Given the description of an element on the screen output the (x, y) to click on. 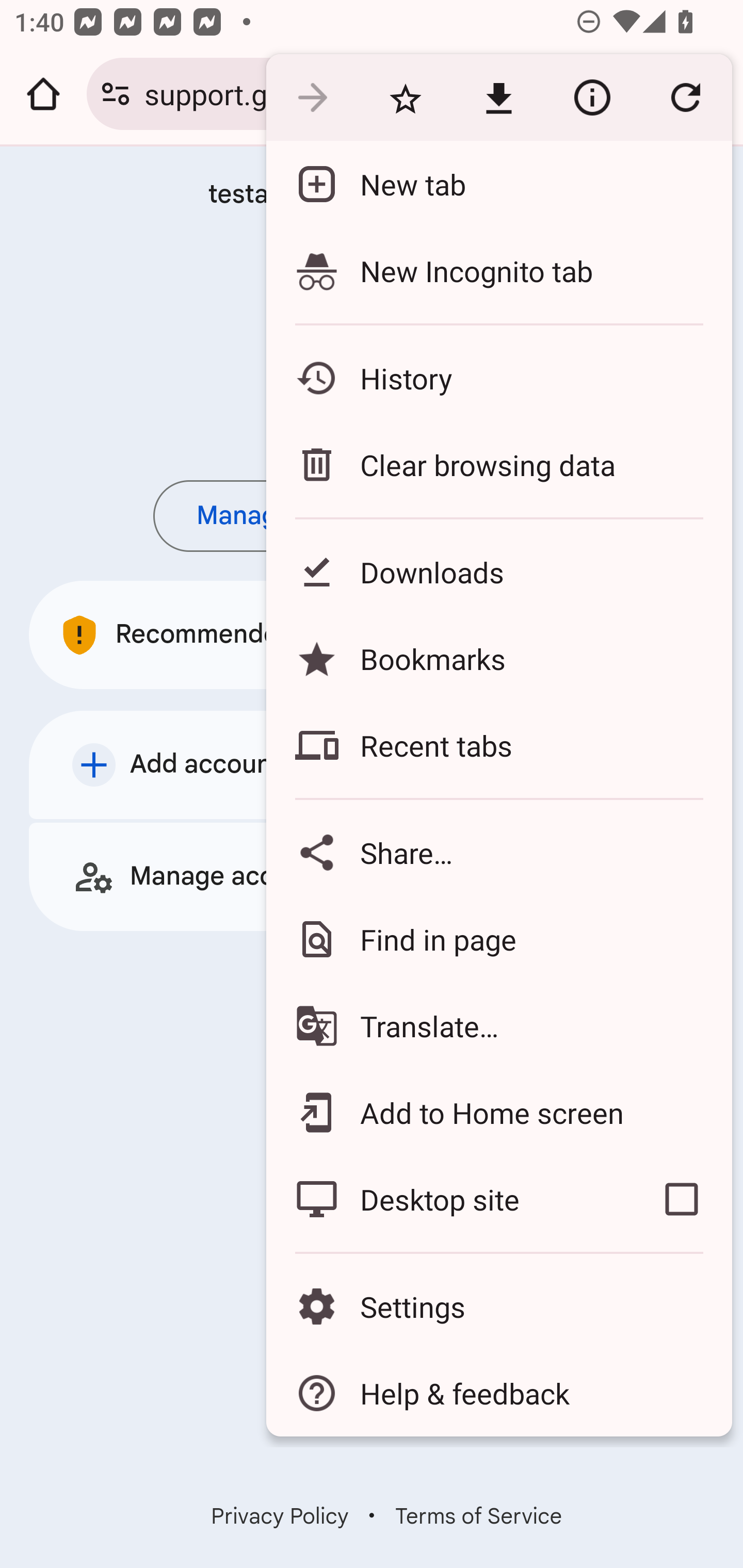
Forward (311, 97)
Bookmark (404, 97)
Download (498, 97)
Page info (591, 97)
Refresh (684, 97)
New tab (498, 184)
New Incognito tab (498, 270)
History (498, 377)
Clear browsing data (498, 464)
Downloads (498, 571)
Bookmarks (498, 658)
Recent tabs (498, 745)
Share… (498, 852)
Find in page (498, 939)
Translate… (498, 1026)
Add to Home screen (498, 1112)
Desktop site Turn on Request desktop site (447, 1198)
Settings (498, 1306)
Help & feedback (498, 1393)
